Given the description of an element on the screen output the (x, y) to click on. 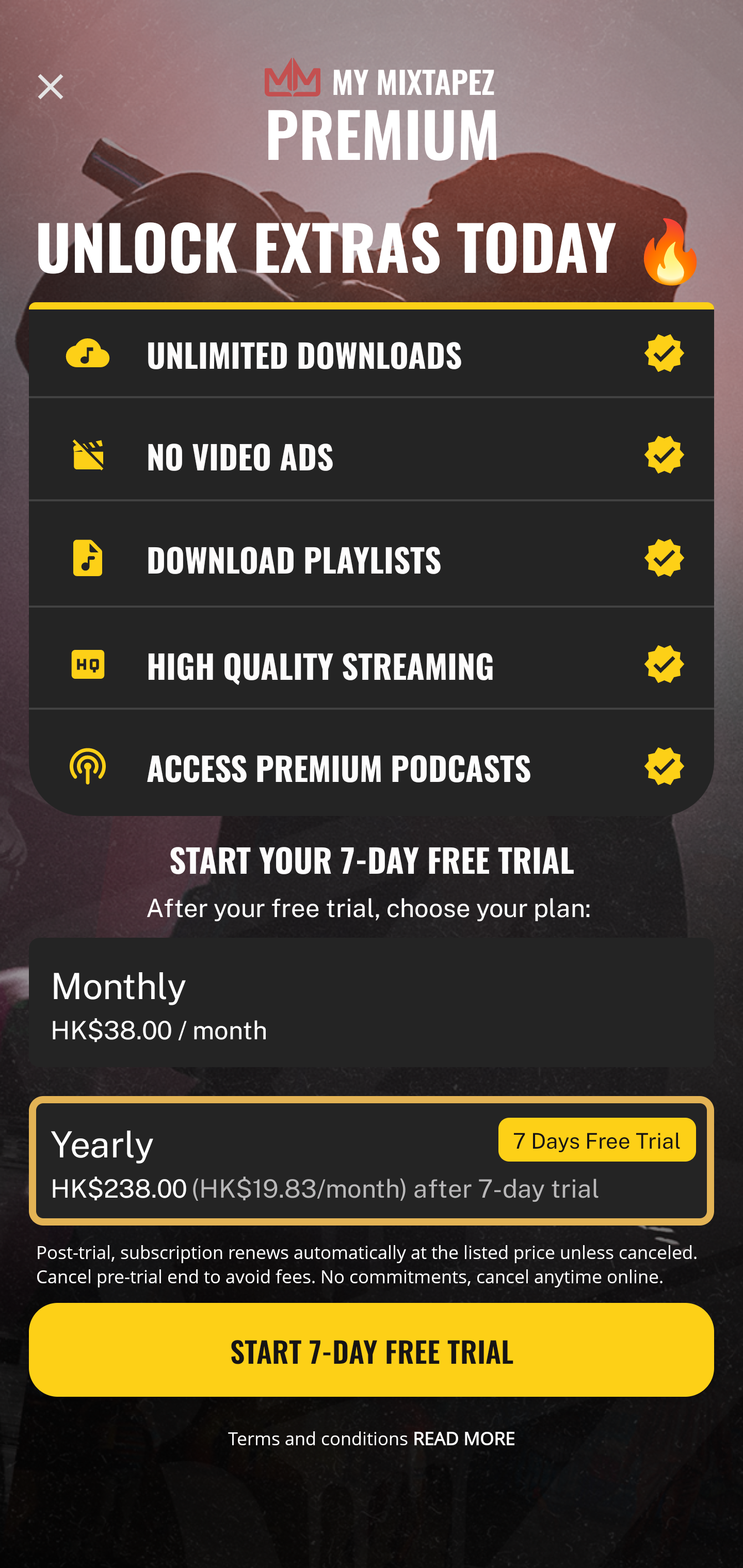
Description (50, 86)
Monthly HK$38.00 / month (371, 1002)
START 7-DAY FREE TRIAL (371, 1350)
Terms and conditions READ MORE (371, 1437)
